Given the description of an element on the screen output the (x, y) to click on. 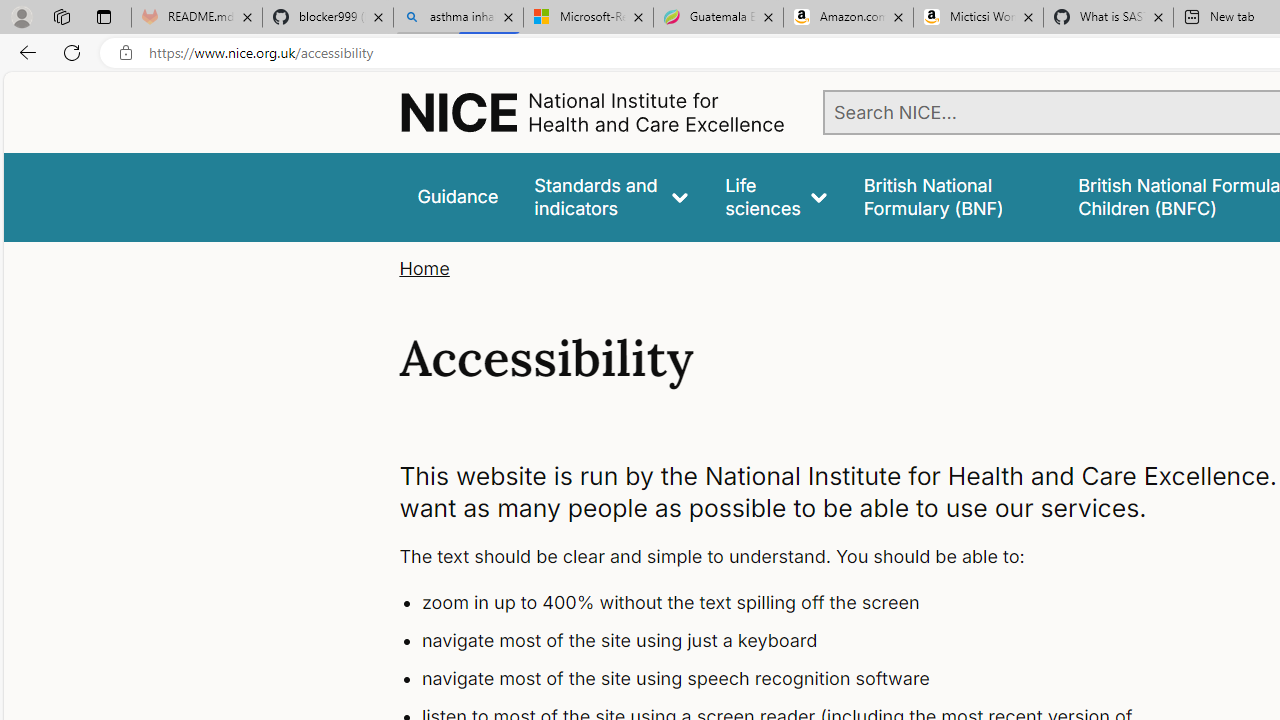
Life sciences (776, 196)
false (952, 196)
Guidance (458, 196)
navigate most of the site using speech recognition software (796, 678)
Life sciences (776, 196)
